Given the description of an element on the screen output the (x, y) to click on. 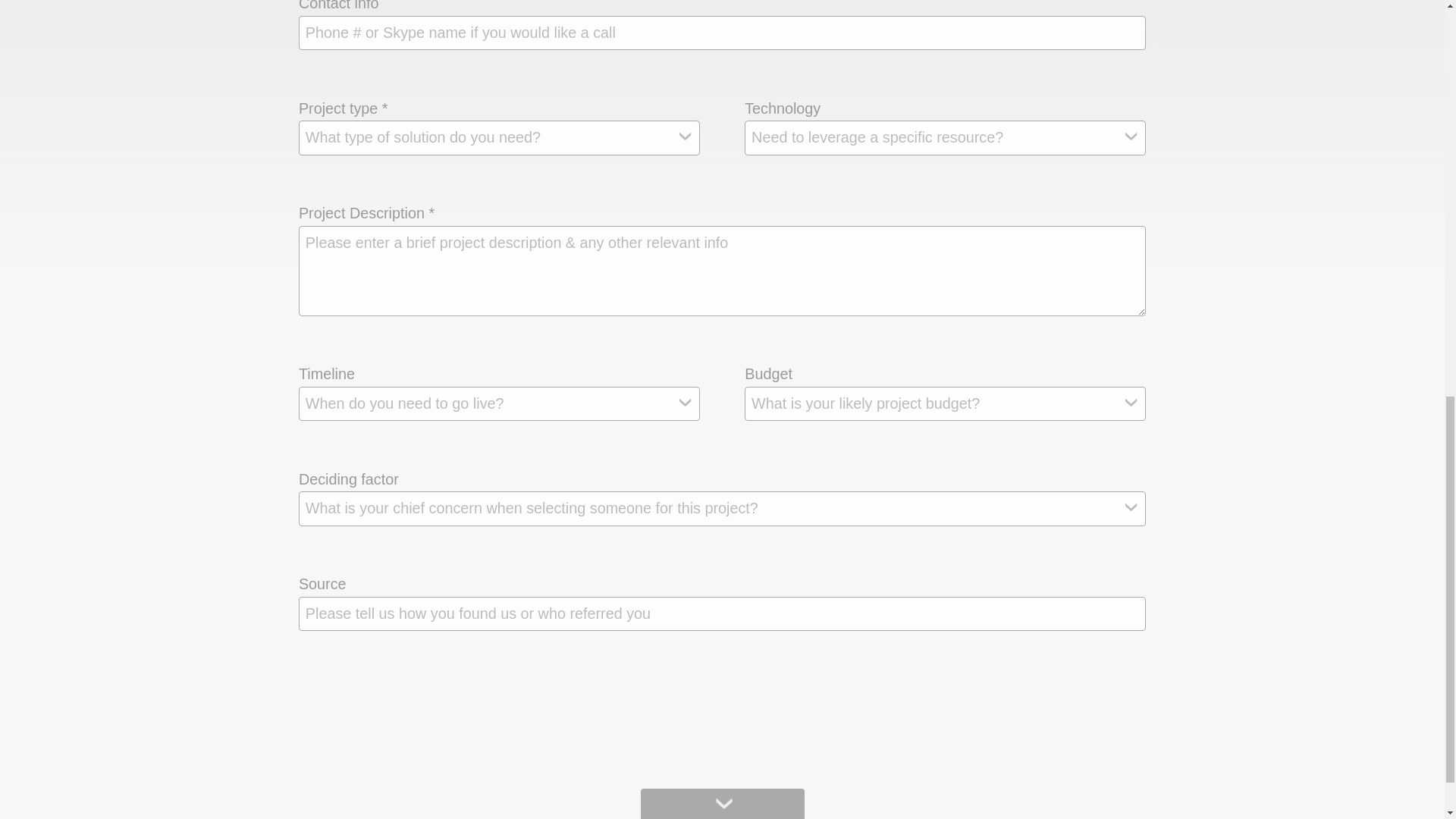
Send Message (729, 714)
